Given the description of an element on the screen output the (x, y) to click on. 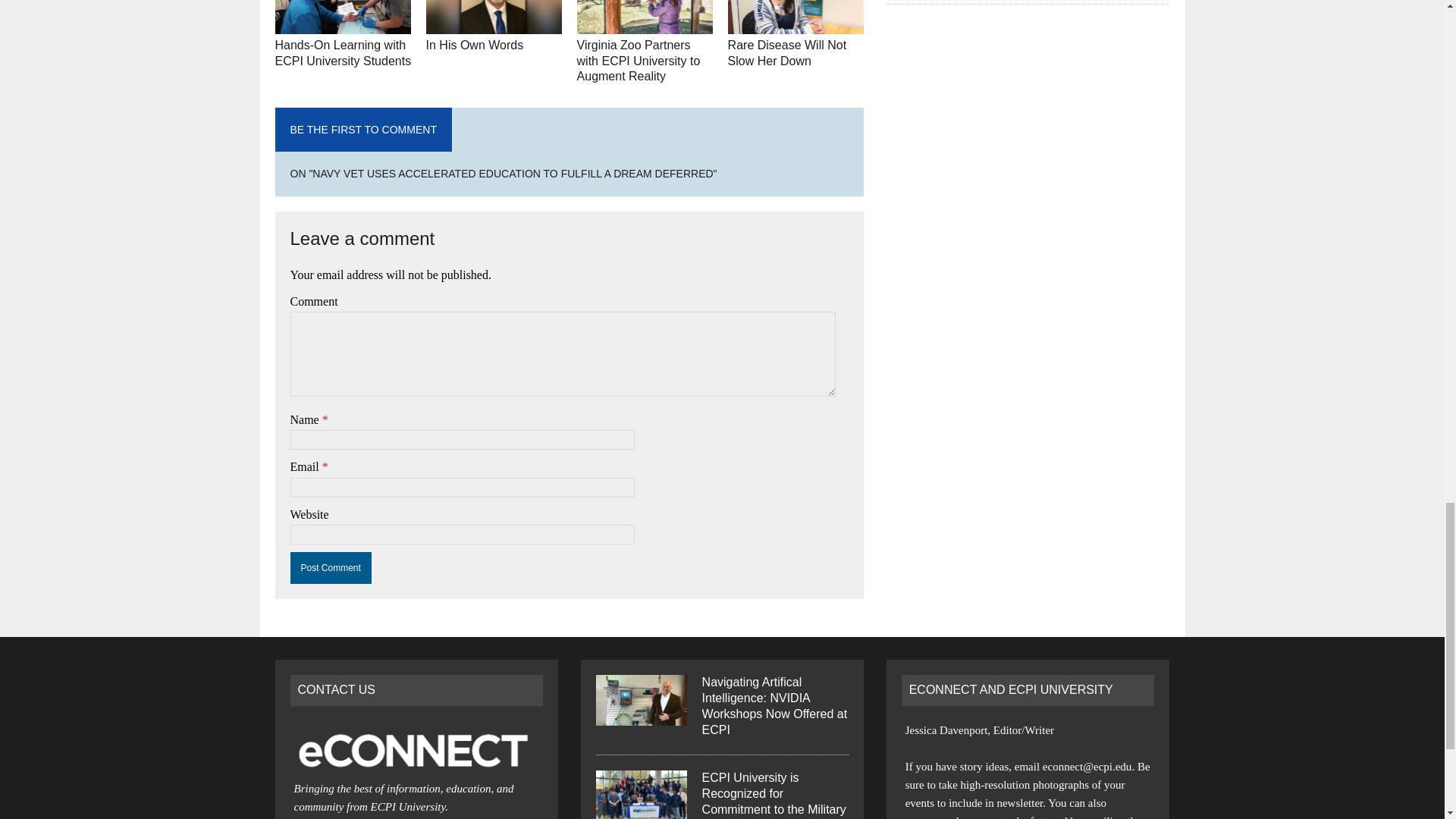
In His Own Words (475, 44)
Rare Disease Will Not Slow Her Down (796, 23)
Rare Disease Will Not Slow Her Down (786, 52)
In His Own Words (494, 23)
Hands-On Learning with ECPI University Students (342, 23)
Hands-On Learning with ECPI University Students (342, 52)
Post Comment (330, 567)
